Given the description of an element on the screen output the (x, y) to click on. 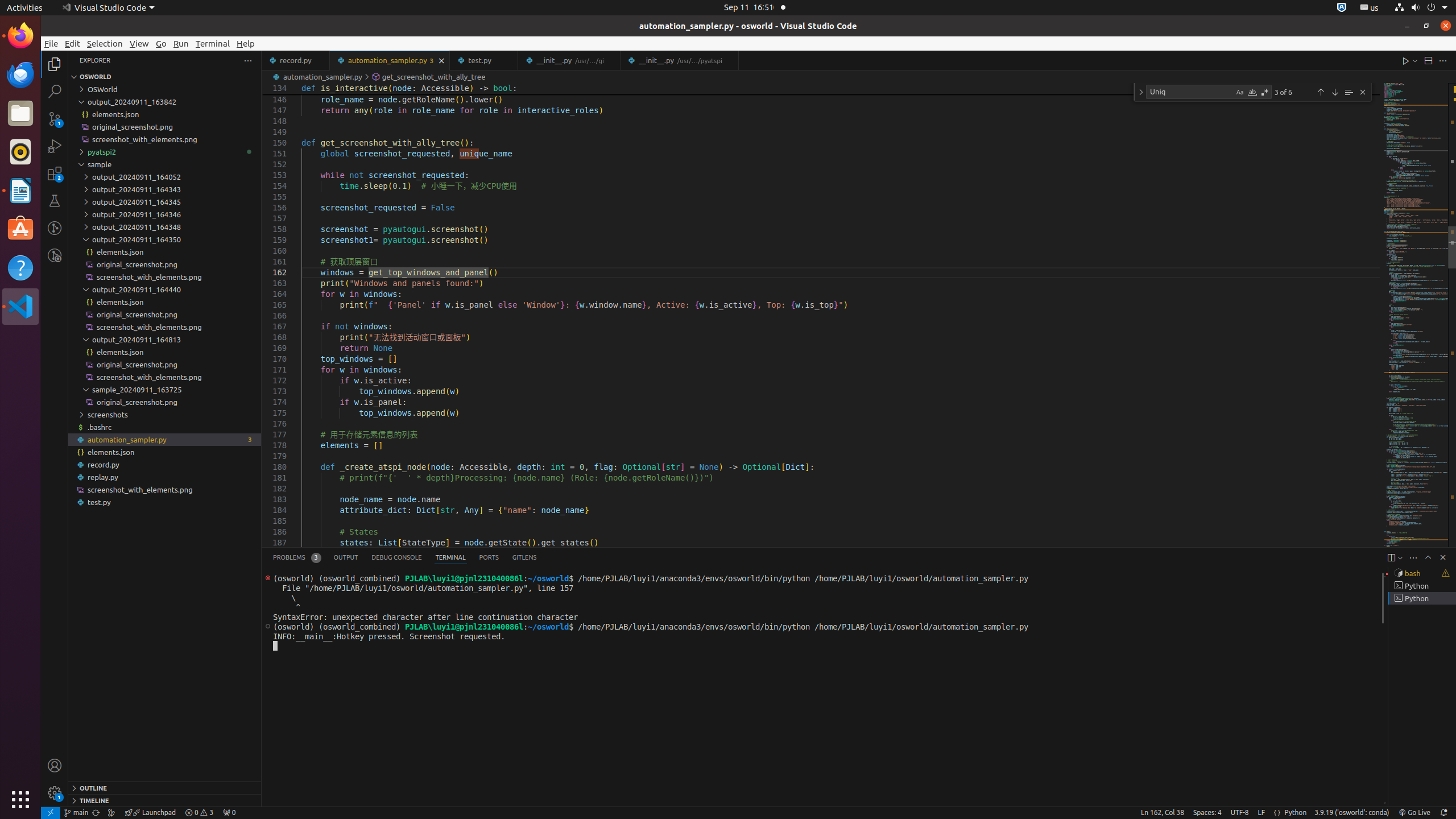
Edit Element type: push-button (72, 43)
record.py Element type: tree-item (164, 464)
output_20240911_164346 Element type: tree-item (164, 214)
Search (Ctrl+Shift+F) Element type: page-tab (54, 91)
Spaces: 4 Element type: push-button (1206, 812)
